Given the description of an element on the screen output the (x, y) to click on. 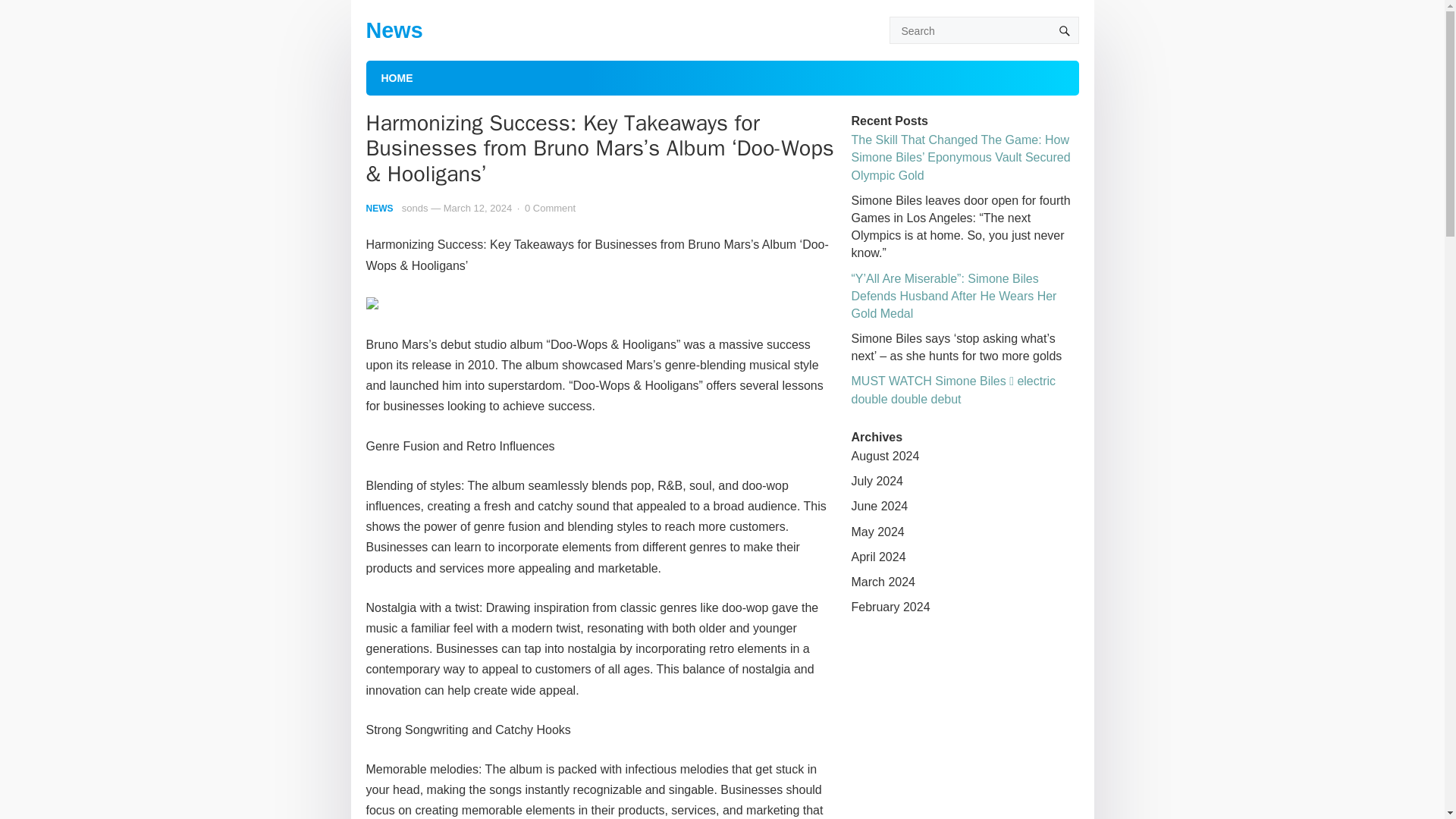
July 2024 (876, 481)
sonds (414, 207)
Posts by sonds (414, 207)
0 Comment (549, 207)
March 2024 (882, 581)
April 2024 (877, 556)
June 2024 (878, 505)
News (393, 30)
May 2024 (877, 531)
HOME (396, 77)
